Given the description of an element on the screen output the (x, y) to click on. 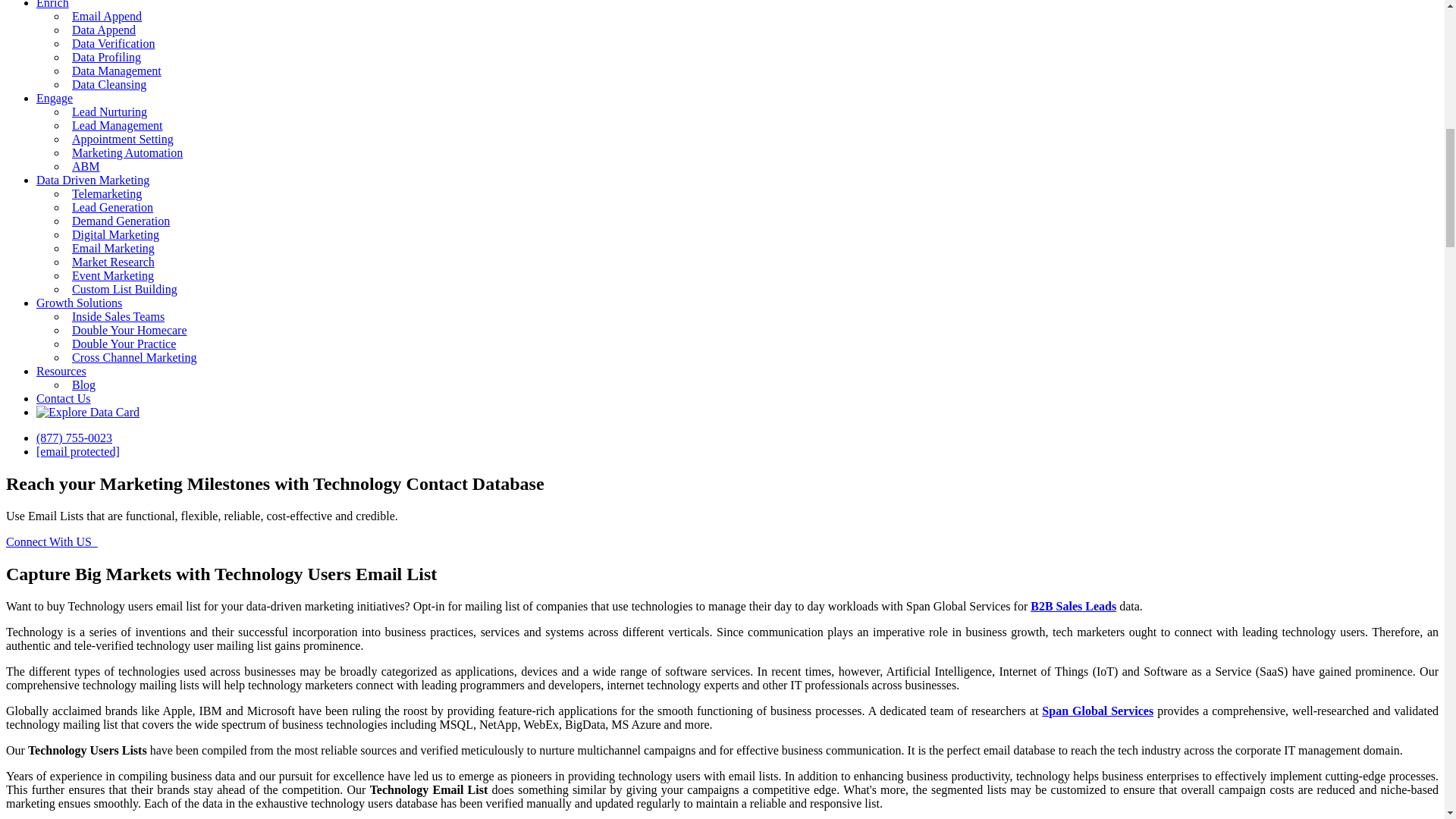
Span Global Services (1097, 710)
B2B Sales Lead (1073, 605)
Explore Data Card (87, 412)
Contact Us (63, 398)
